Given the description of an element on the screen output the (x, y) to click on. 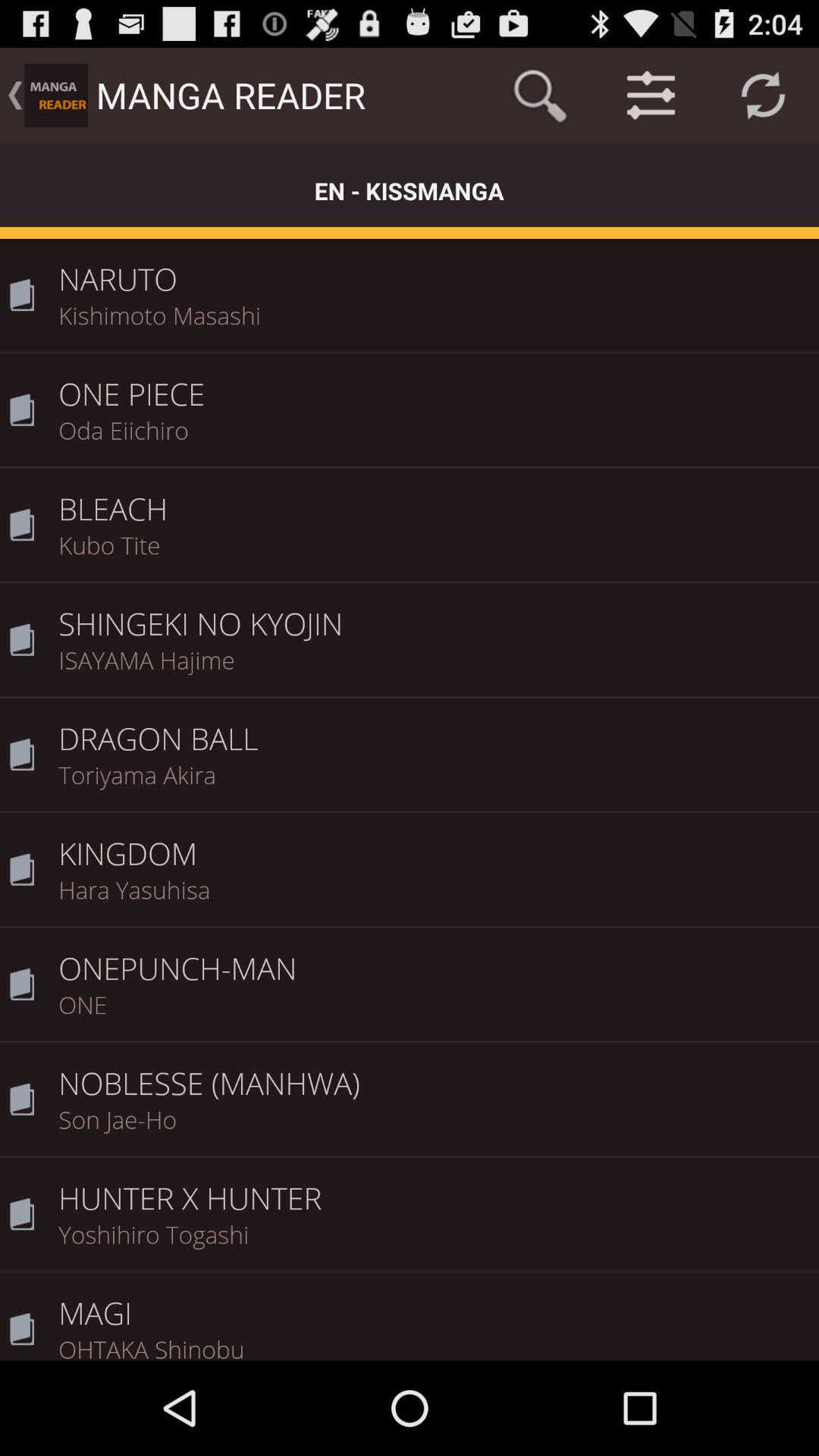
scroll to kishimoto masashi (433, 325)
